Given the description of an element on the screen output the (x, y) to click on. 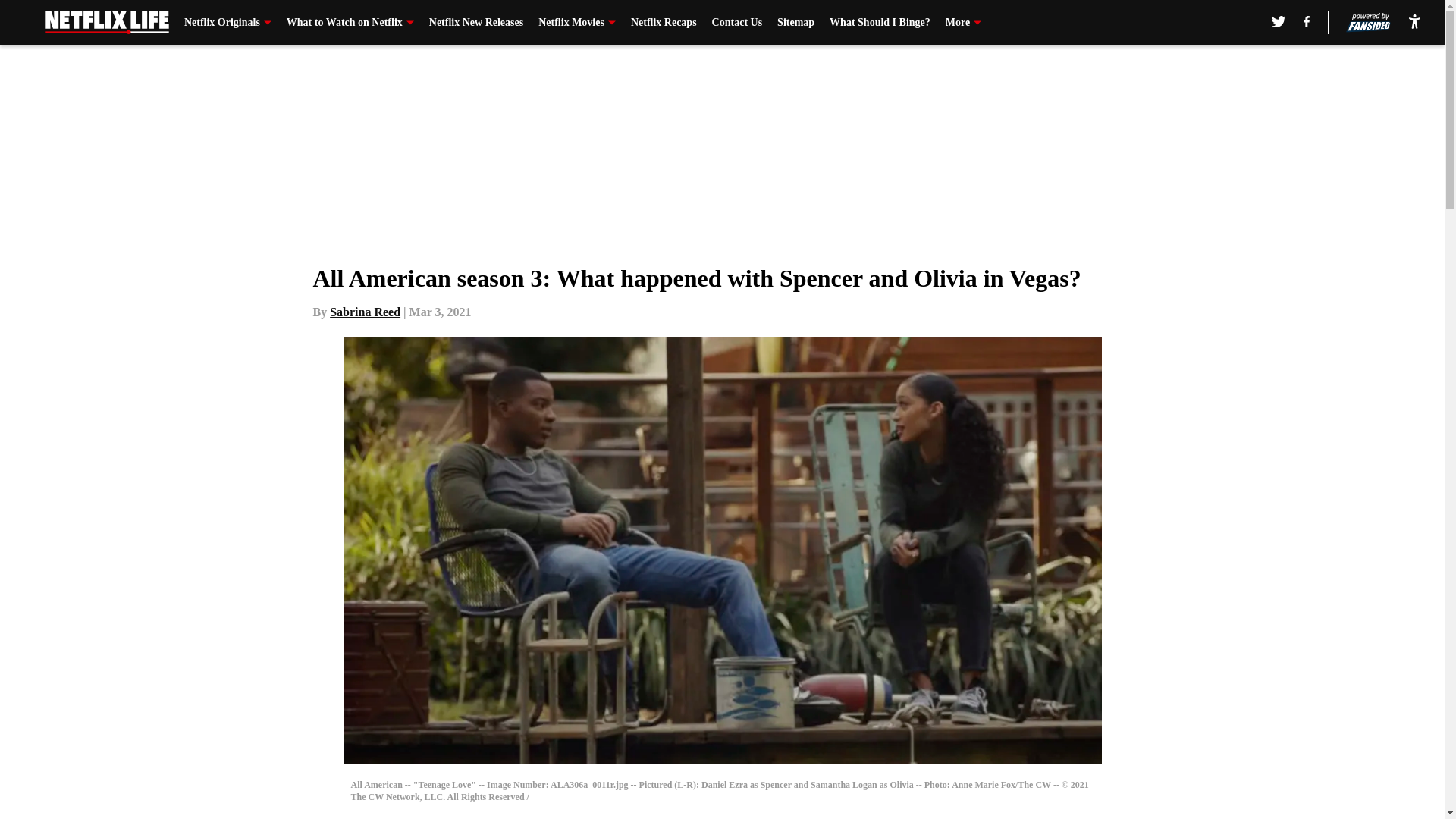
What to Watch on Netflix (349, 22)
Netflix New Releases (475, 22)
Netflix Originals (227, 22)
Netflix Movies (576, 22)
